Given the description of an element on the screen output the (x, y) to click on. 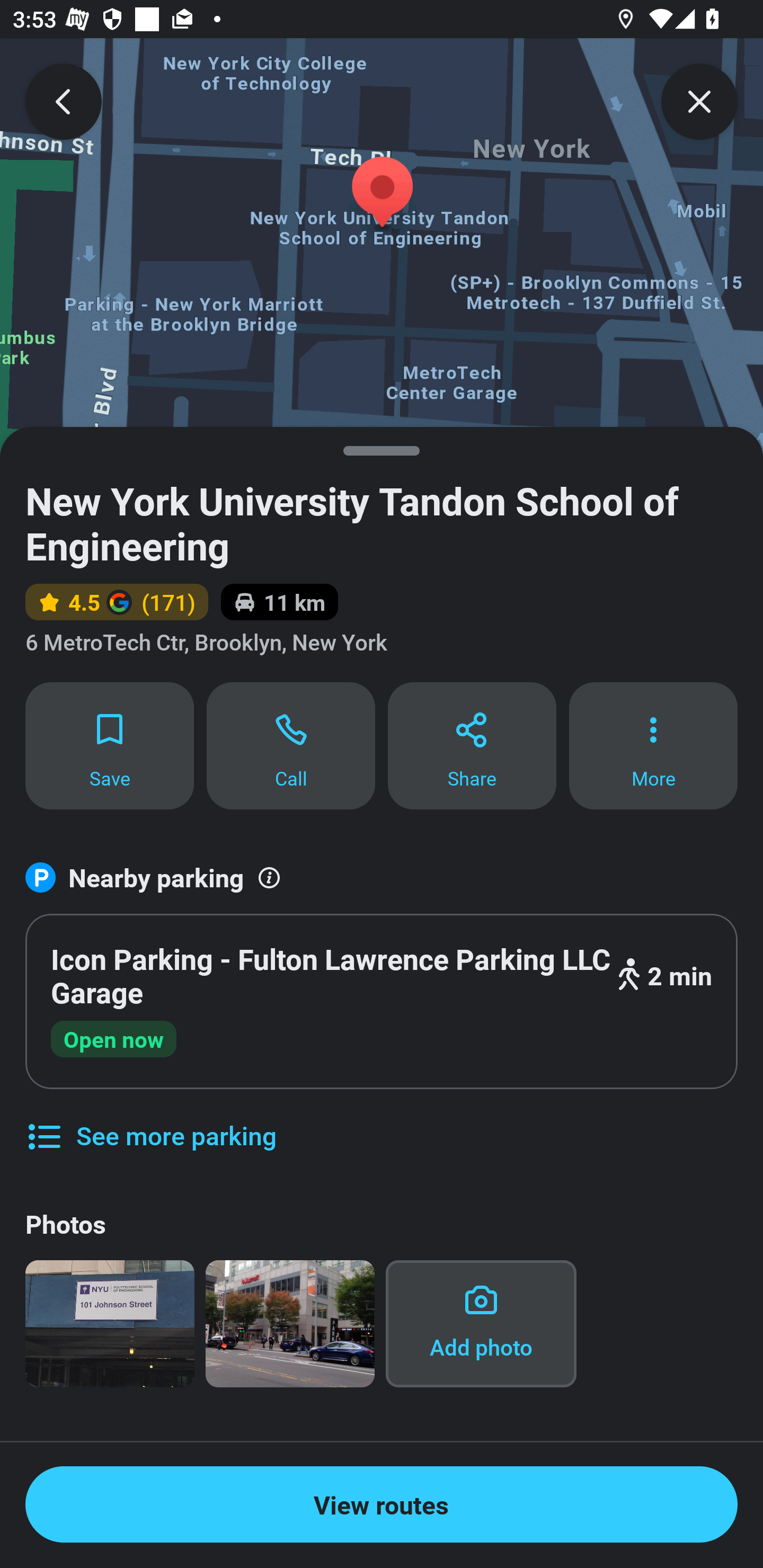
Save (109, 745)
Call (290, 745)
Share (471, 745)
More (653, 745)
See more parking (150, 1122)
Add photo (481, 1323)
View routes (381, 1504)
